Given the description of an element on the screen output the (x, y) to click on. 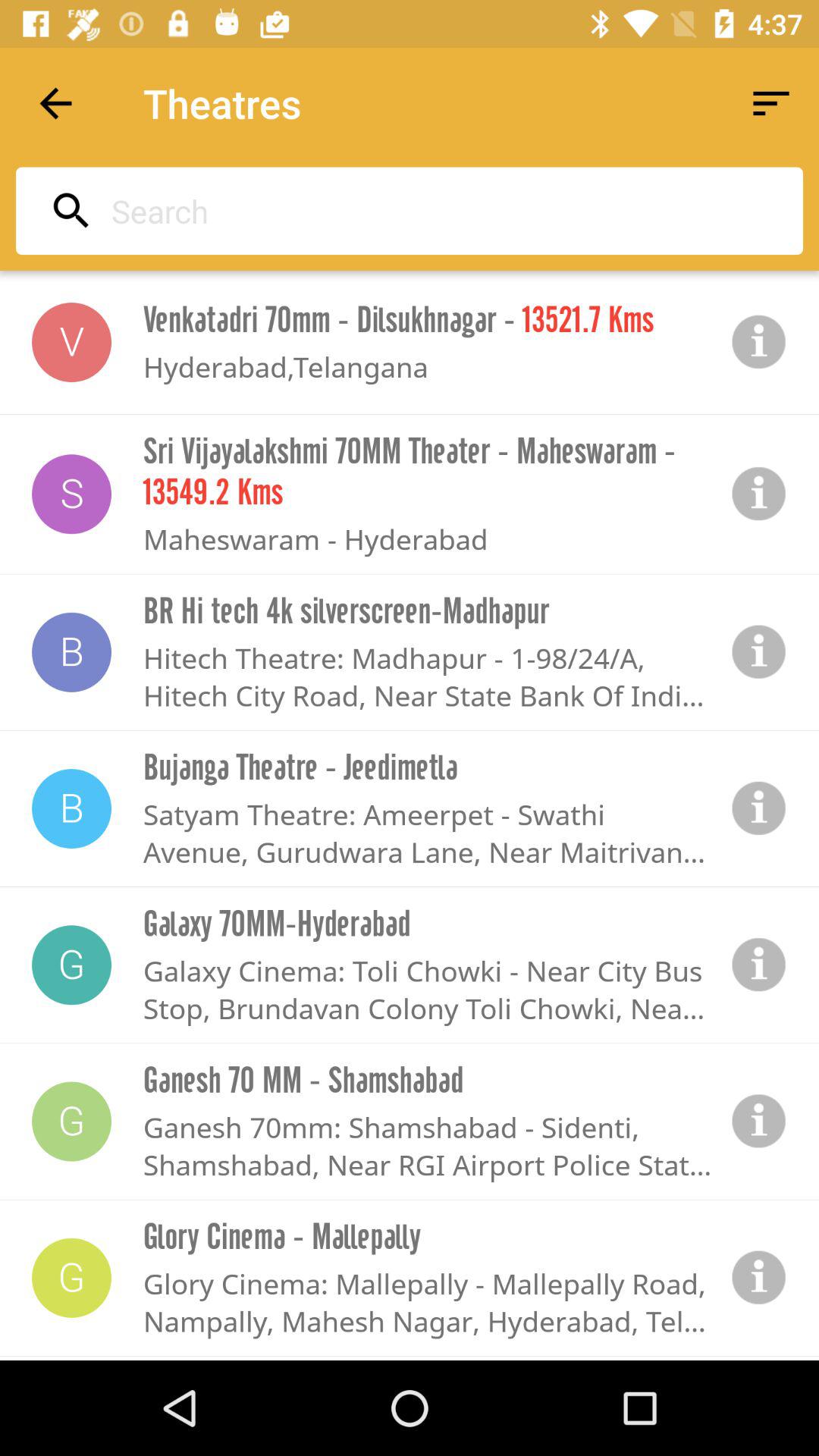
press the icon to the right of theatres item (771, 103)
